Given the description of an element on the screen output the (x, y) to click on. 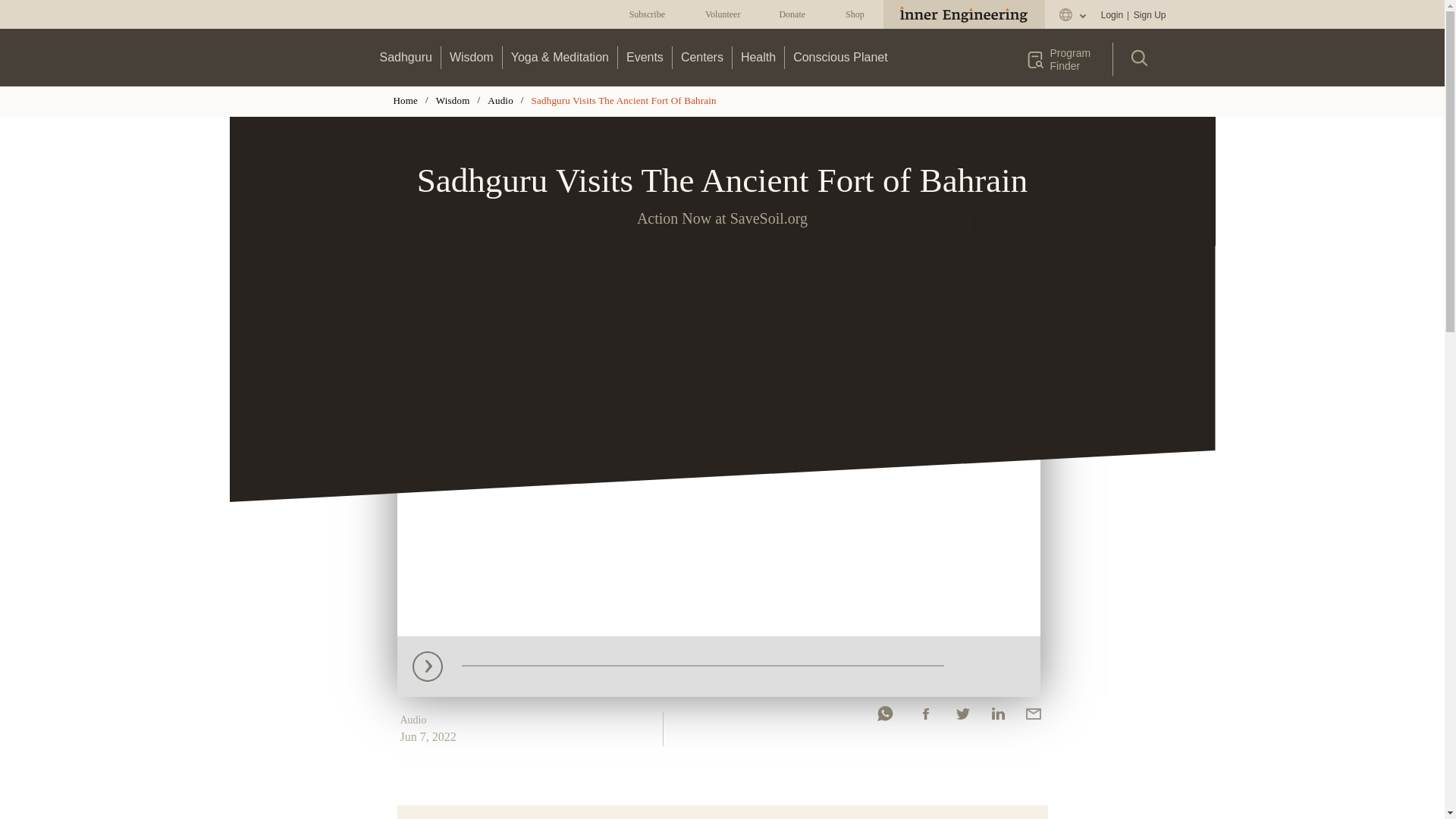
Login (1112, 15)
Sign Up (1149, 15)
Wisdom (471, 56)
Sadhguru (406, 56)
